Given the description of an element on the screen output the (x, y) to click on. 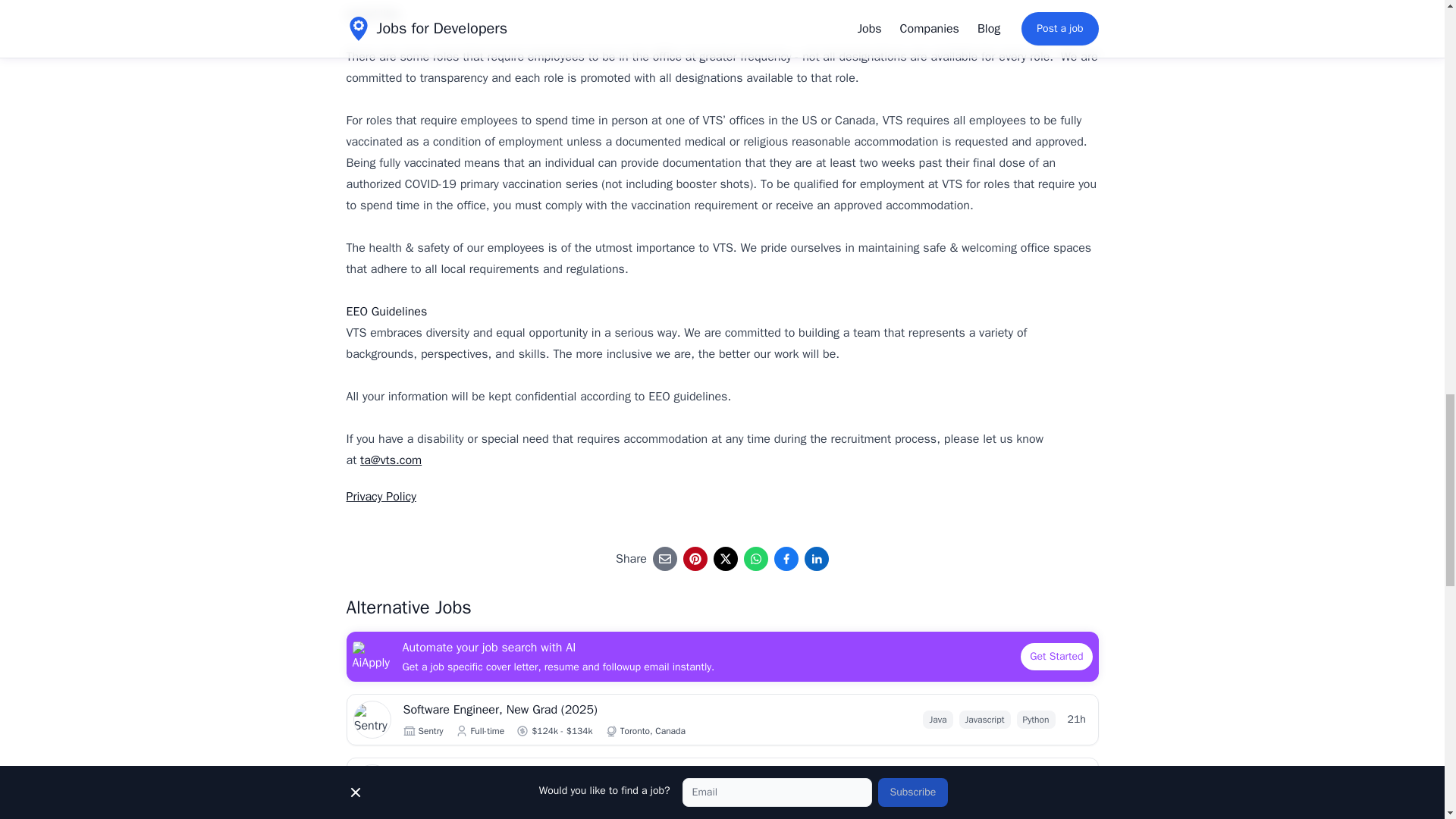
Frontend Engineer (593, 773)
Share on Pinterest (694, 558)
Share on X (725, 558)
Toronto, Canada (652, 730)
Share on Facebook (785, 558)
Share via WhatsApp (756, 558)
Privacy Policy (380, 496)
Seattle, Washington (661, 794)
share via email (664, 558)
Share on LinkedIn (816, 558)
